Given the description of an element on the screen output the (x, y) to click on. 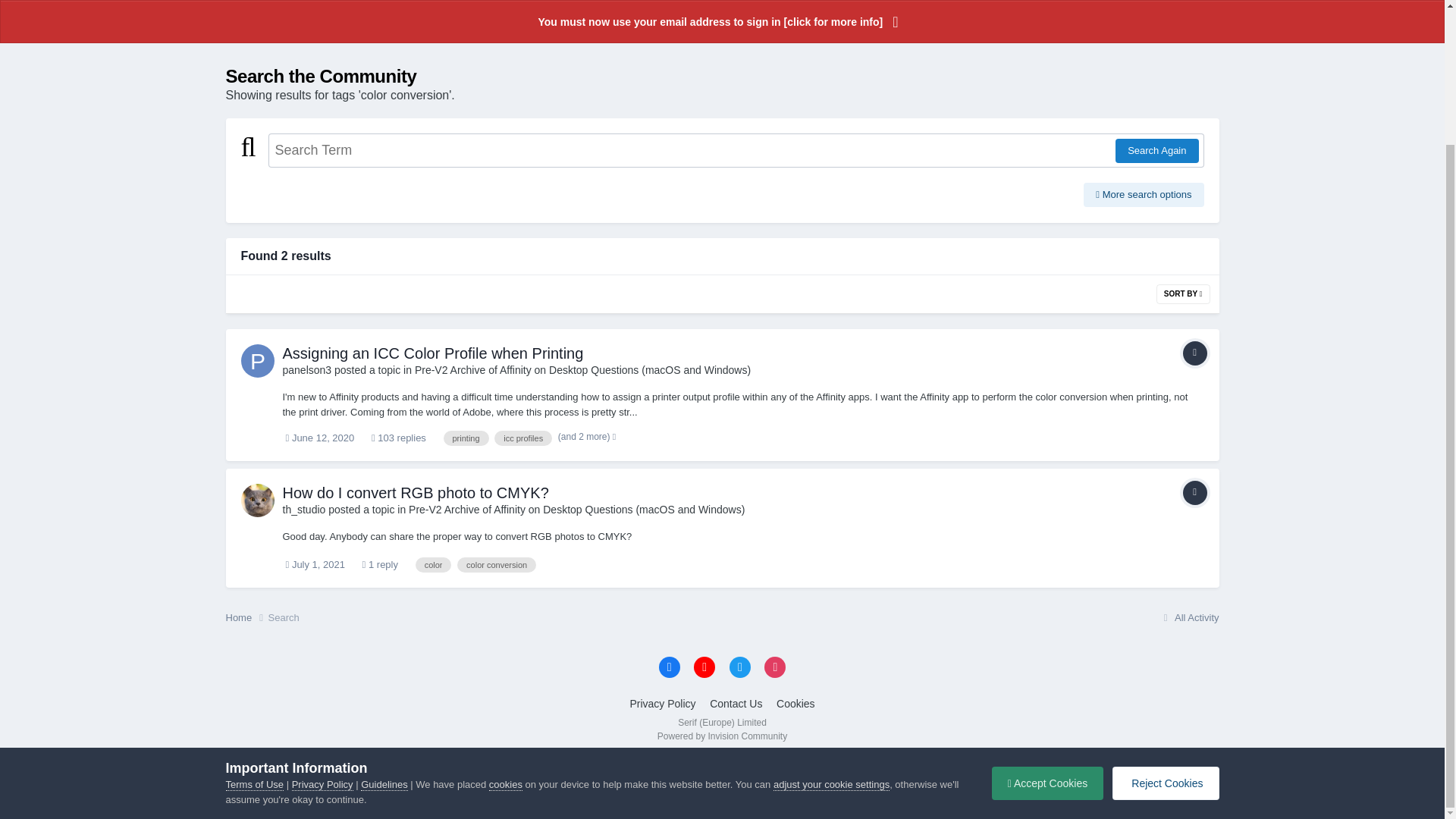
Find other content tagged with 'printing' (464, 437)
Topic (1194, 492)
More search options (1143, 194)
Home (246, 36)
Topic (1194, 353)
Find other content tagged with 'color' (432, 564)
Search (283, 35)
All Activity (1188, 35)
Search Again (1156, 150)
Go to panelson3's profile (258, 360)
